Given the description of an element on the screen output the (x, y) to click on. 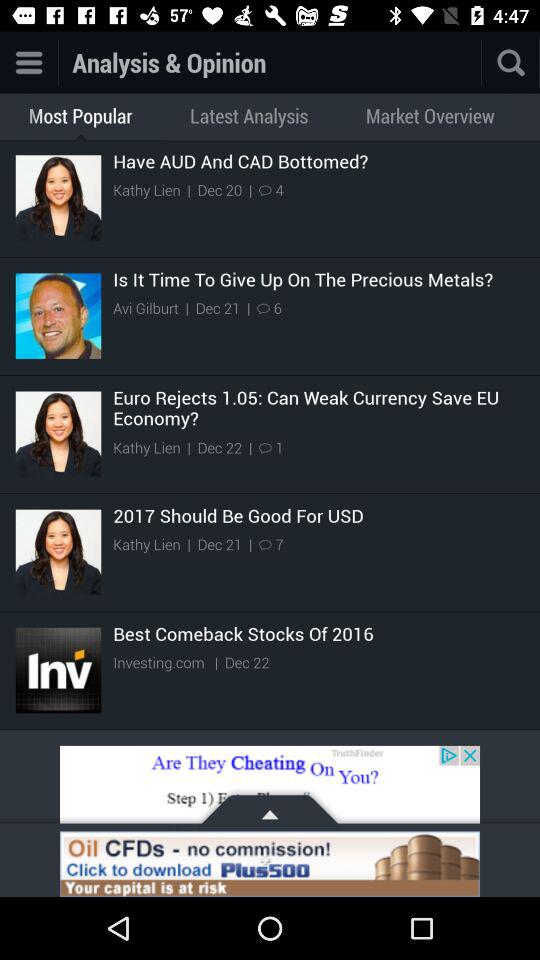
add icone (270, 864)
